Given the description of an element on the screen output the (x, y) to click on. 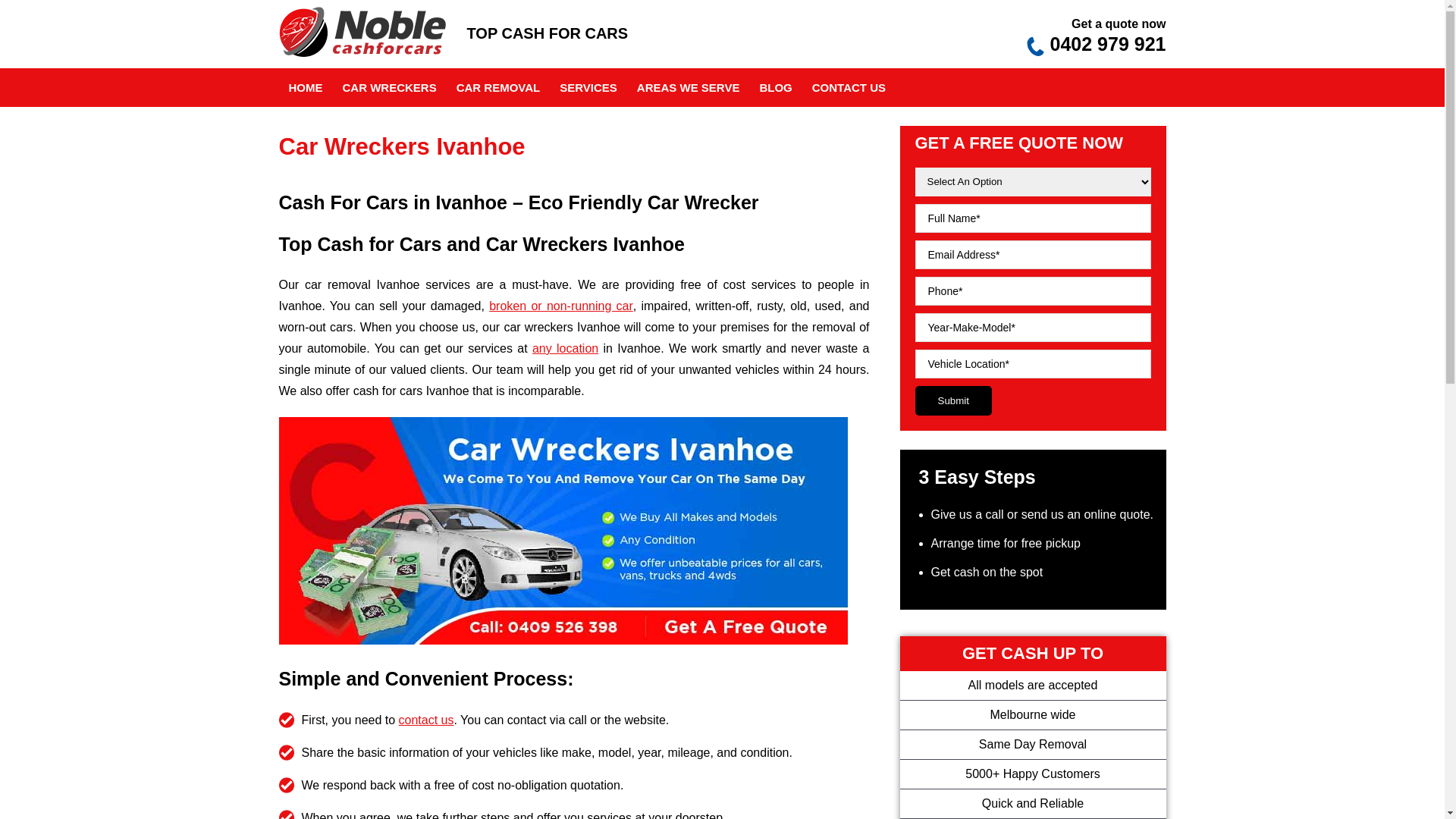
Submit Element type: text (952, 400)
0402 979 921 Element type: text (1108, 44)
Car Wreckers Ivanhoe Element type: hover (563, 530)
SERVICES Element type: text (588, 87)
HOME Element type: text (305, 87)
AREAS WE SERVE Element type: text (688, 87)
broken or non-running car Element type: text (561, 305)
contact us Element type: text (426, 719)
CAR WRECKERS Element type: text (388, 87)
CAR REMOVAL Element type: text (498, 87)
BLOG Element type: text (775, 87)
any location Element type: text (565, 348)
CONTACT US Element type: text (848, 87)
